Given the description of an element on the screen output the (x, y) to click on. 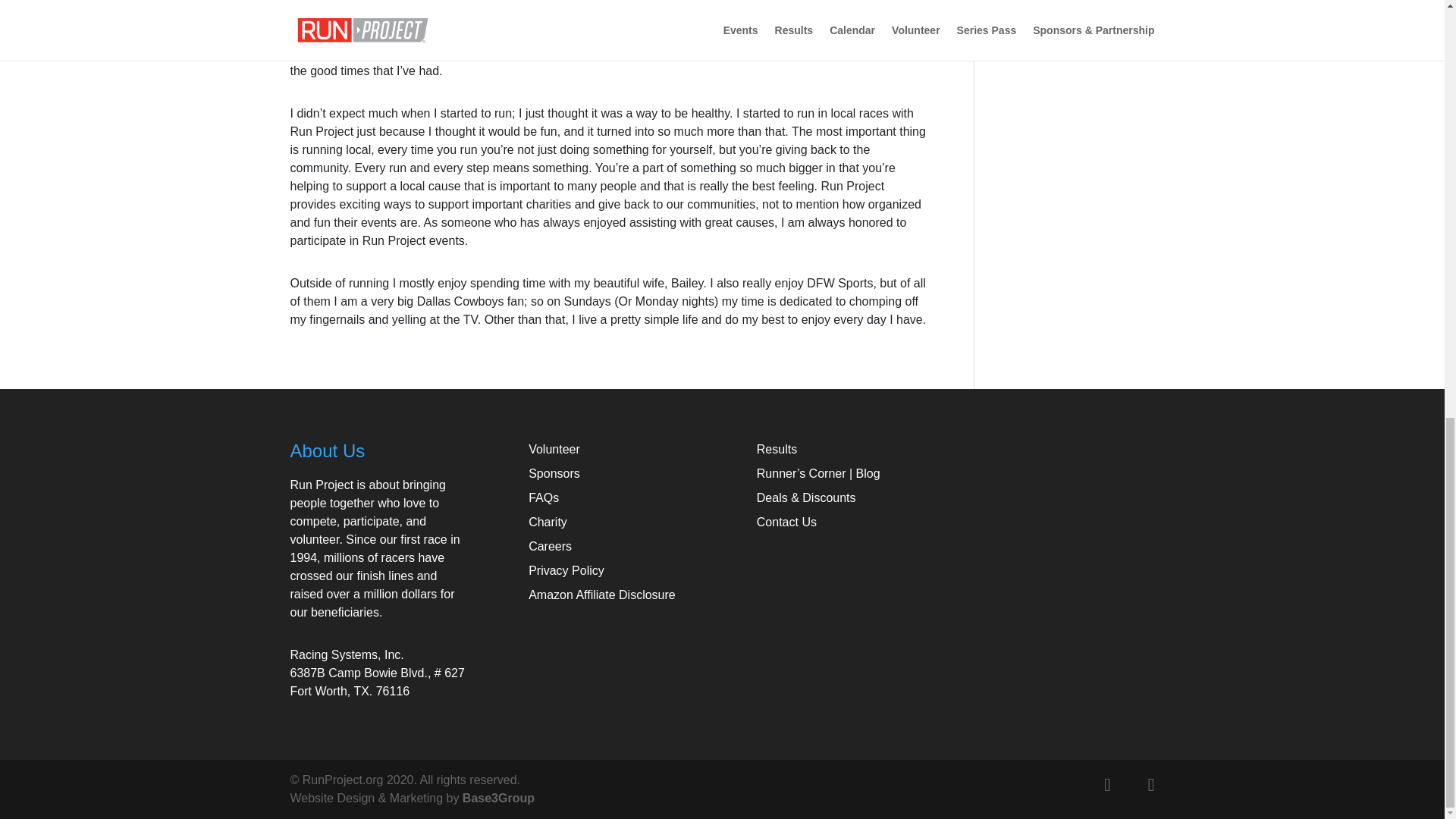
Sponsors (553, 472)
Charity (547, 521)
Privacy Policy (566, 570)
Base3Group (498, 797)
Results (776, 449)
Volunteer (553, 449)
Careers (550, 545)
Contact Us (786, 521)
FAQs (543, 497)
Amazon Affiliate Disclosure (601, 594)
